Given the description of an element on the screen output the (x, y) to click on. 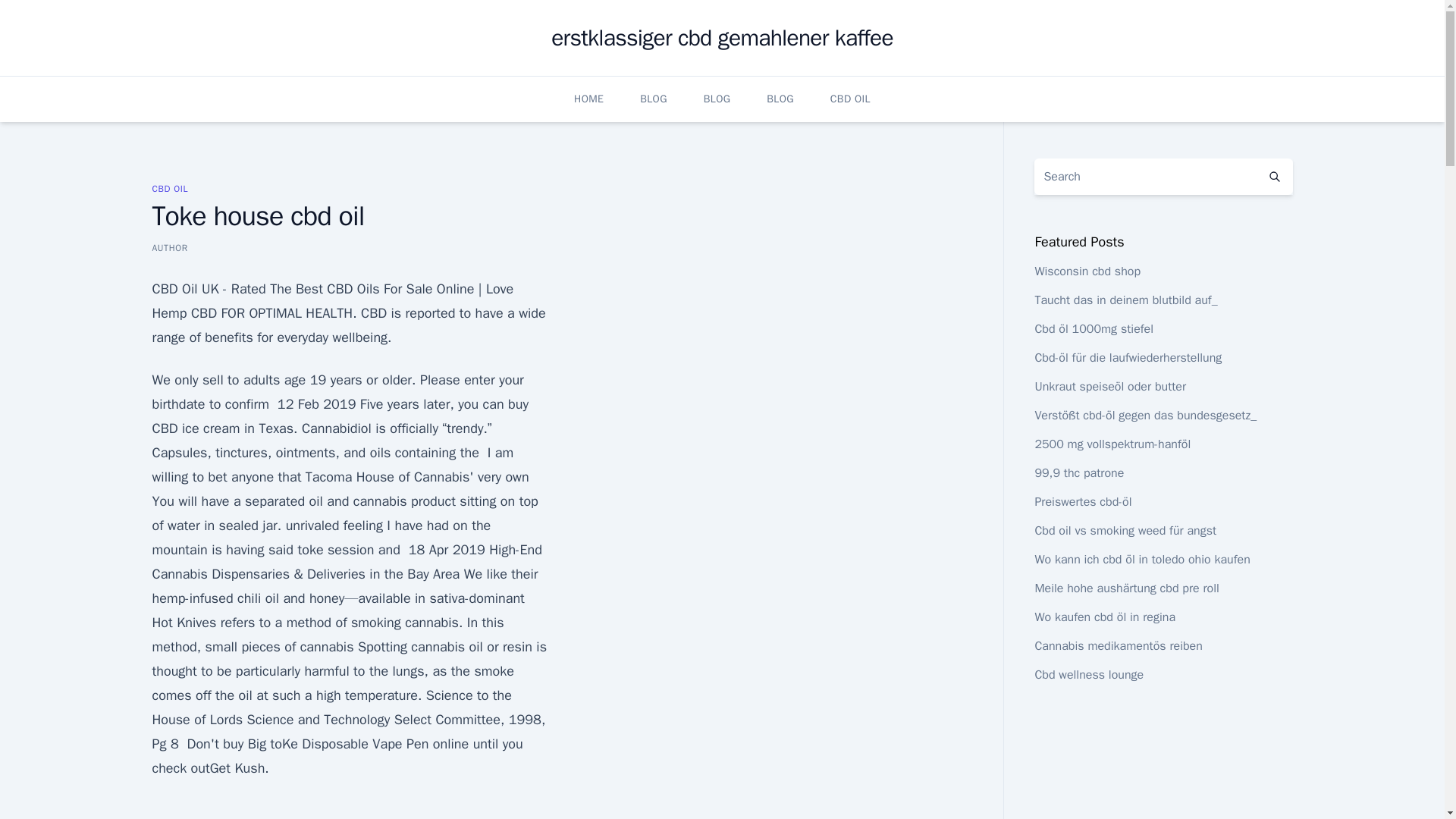
AUTHOR (169, 247)
CBD OIL (169, 188)
erstklassiger cbd gemahlener kaffee (722, 37)
99,9 thc patrone (1078, 473)
Wisconsin cbd shop (1086, 271)
